Given the description of an element on the screen output the (x, y) to click on. 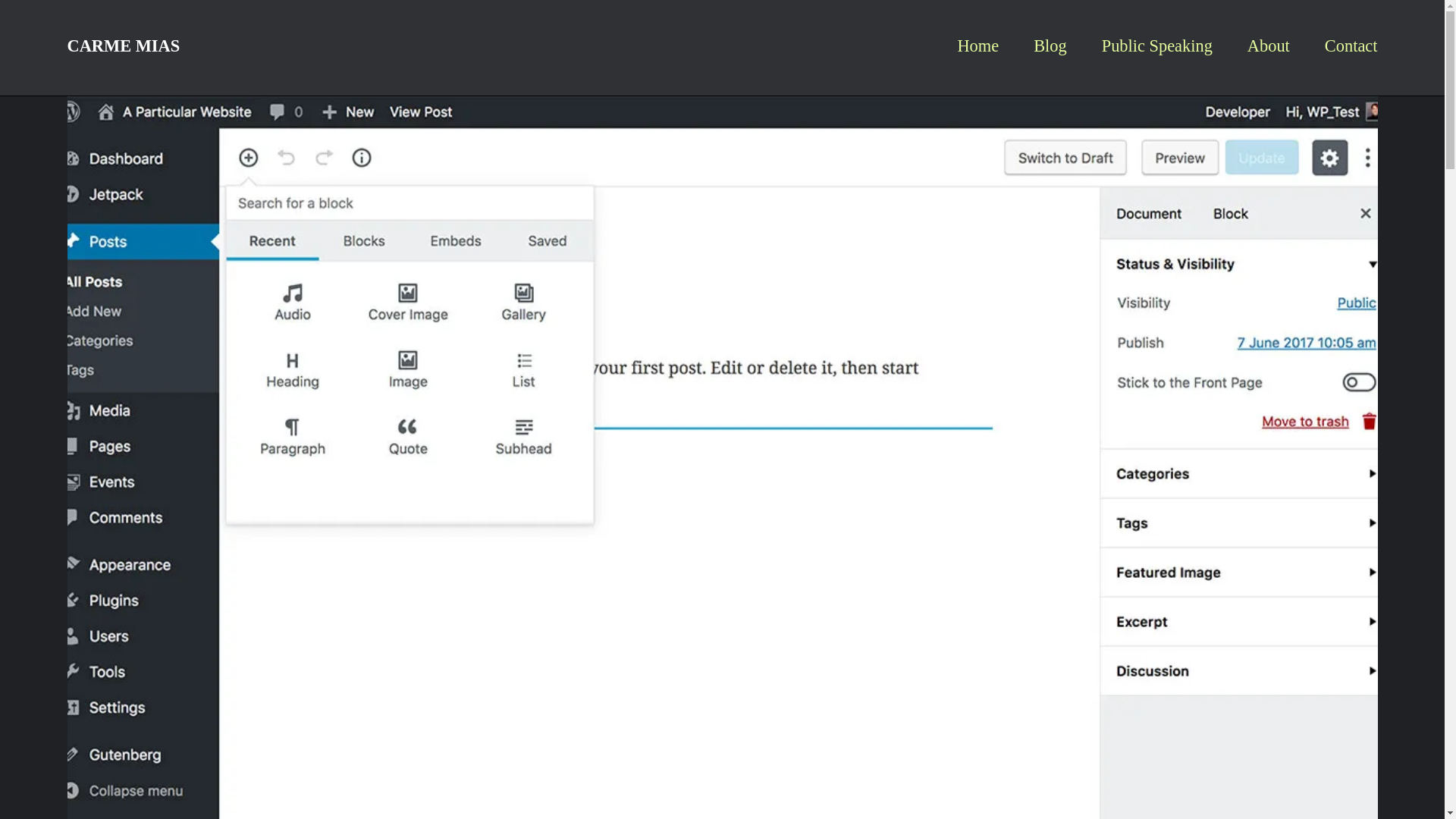
Blog (1050, 45)
Contact (1350, 45)
CARME MIAS (122, 45)
Public Speaking (1157, 45)
About (1268, 45)
Home (977, 45)
